Given the description of an element on the screen output the (x, y) to click on. 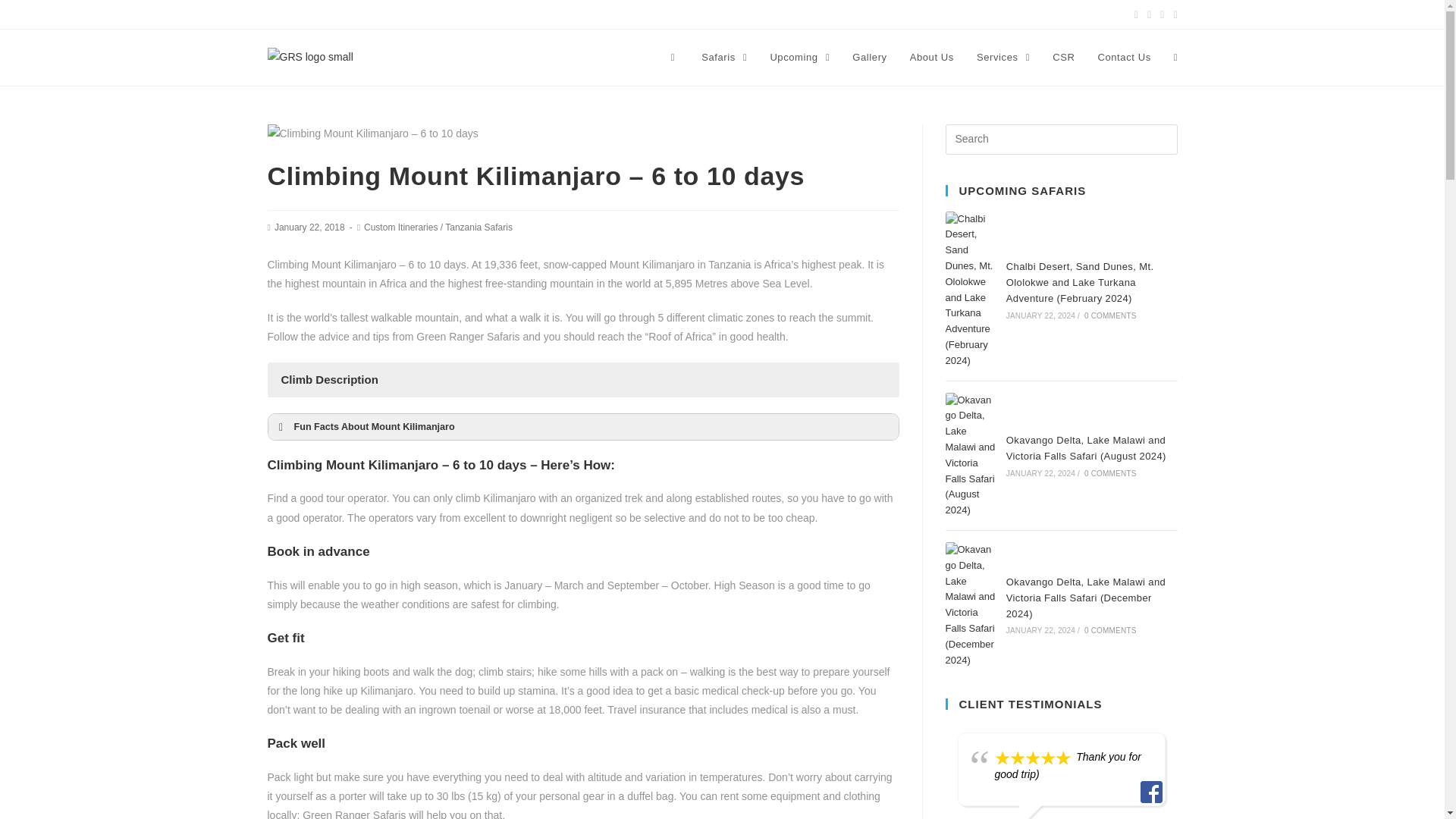
Upcoming (799, 57)
Services (1003, 57)
Contact Us (1123, 57)
Custom Itineraries (401, 226)
About Us (931, 57)
Tanzania Safaris (478, 226)
Safaris (724, 57)
Gallery (869, 57)
